Given the description of an element on the screen output the (x, y) to click on. 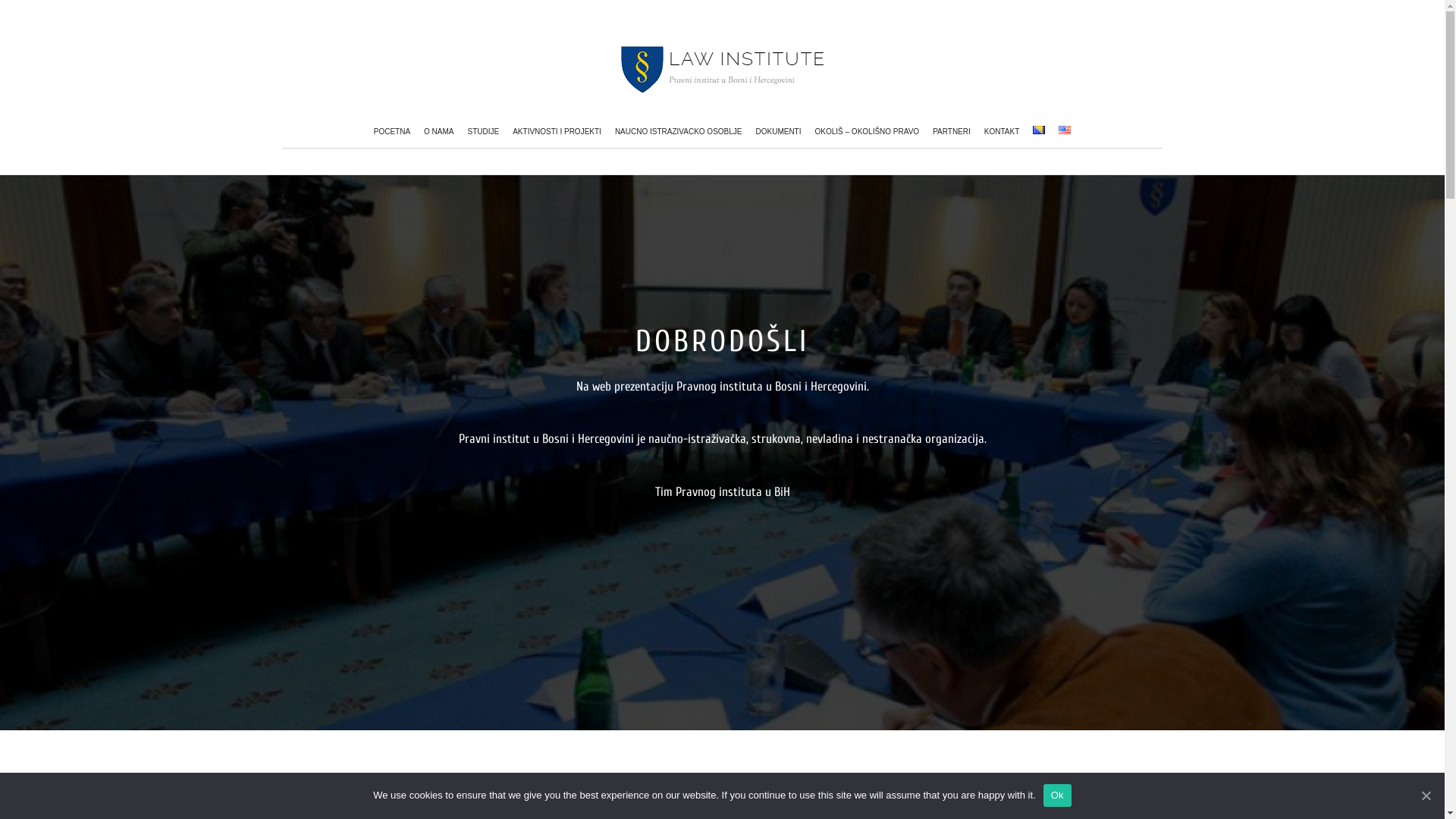
PARTNERI Element type: text (951, 131)
KONTAKT Element type: text (1001, 131)
STUDIJE Element type: text (483, 131)
AKTIVNOSTI I PROJEKTI Element type: text (556, 131)
Law Institute Element type: hover (722, 68)
DOKUMENTI Element type: text (778, 131)
O NAMA Element type: text (438, 131)
Law Institute Element type: hover (722, 81)
NAUCNO ISTRAZIVACKO OSOBLJE Element type: text (678, 131)
Ok Element type: text (1057, 795)
POCETNA Element type: text (391, 131)
